Given the description of an element on the screen output the (x, y) to click on. 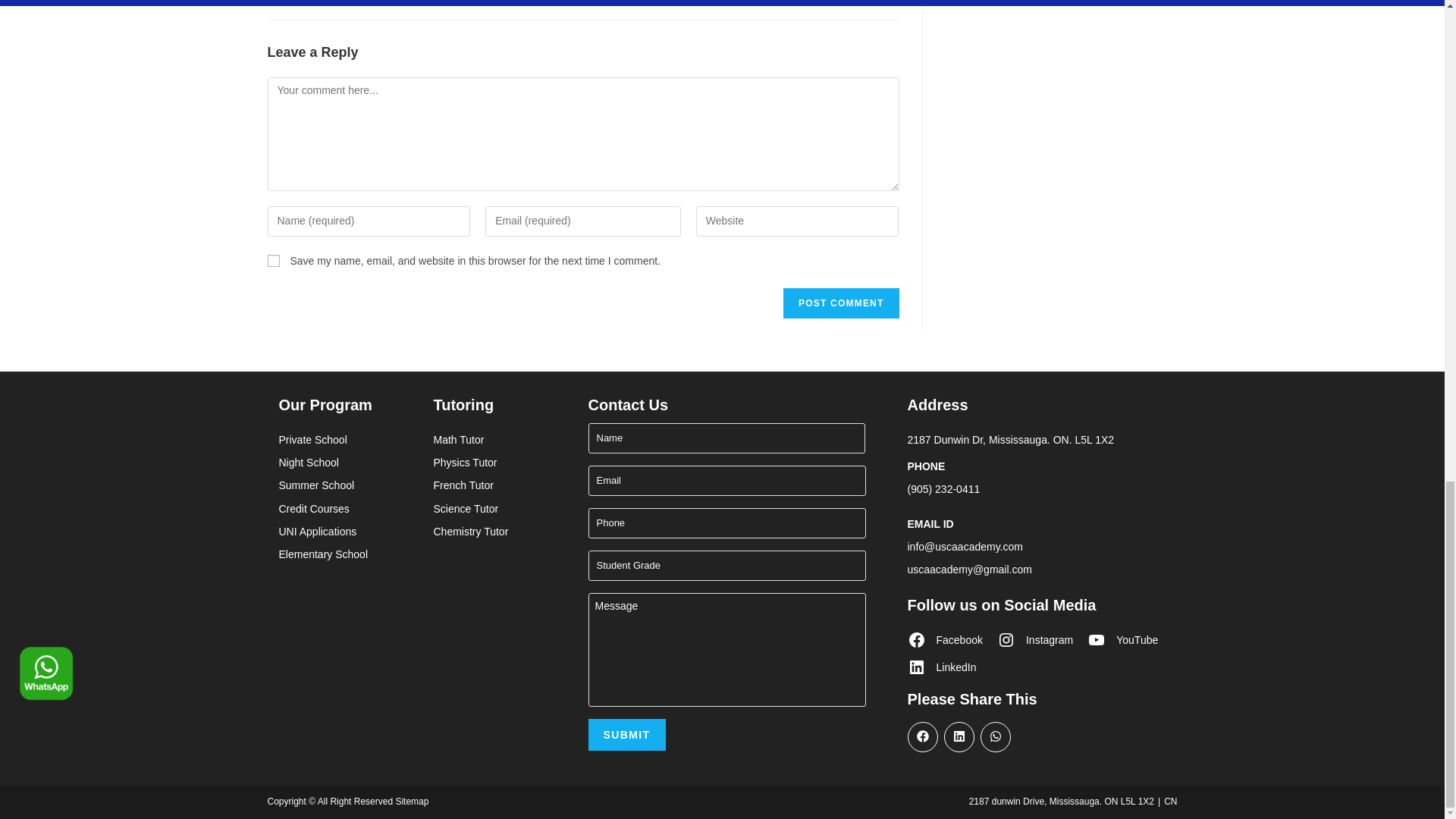
yes (272, 260)
SUBMIT (626, 735)
Post Comment (840, 303)
